Given the description of an element on the screen output the (x, y) to click on. 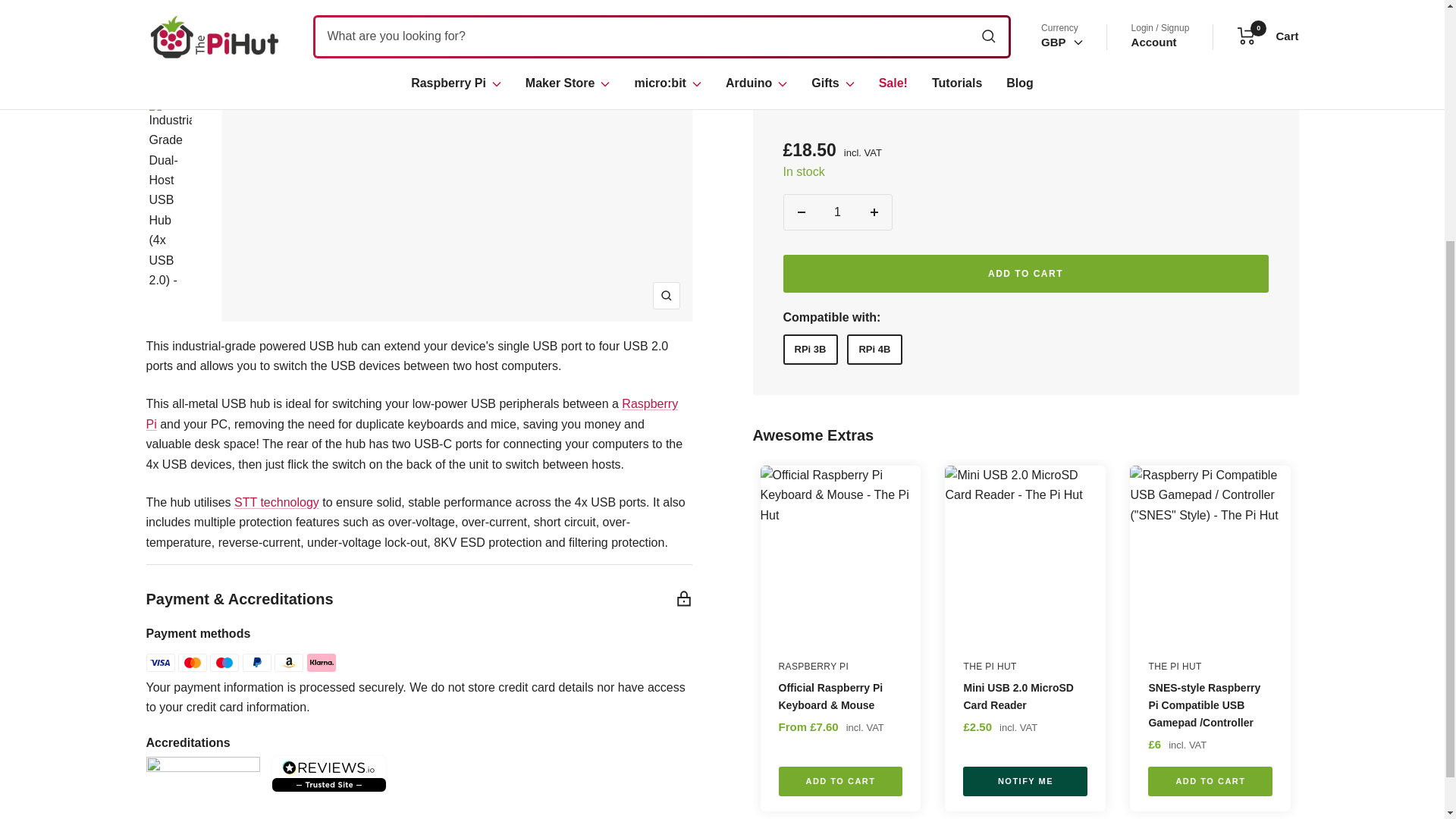
1 (837, 39)
Mastercard (191, 662)
Visa (159, 662)
Maestro (223, 662)
